Given the description of an element on the screen output the (x, y) to click on. 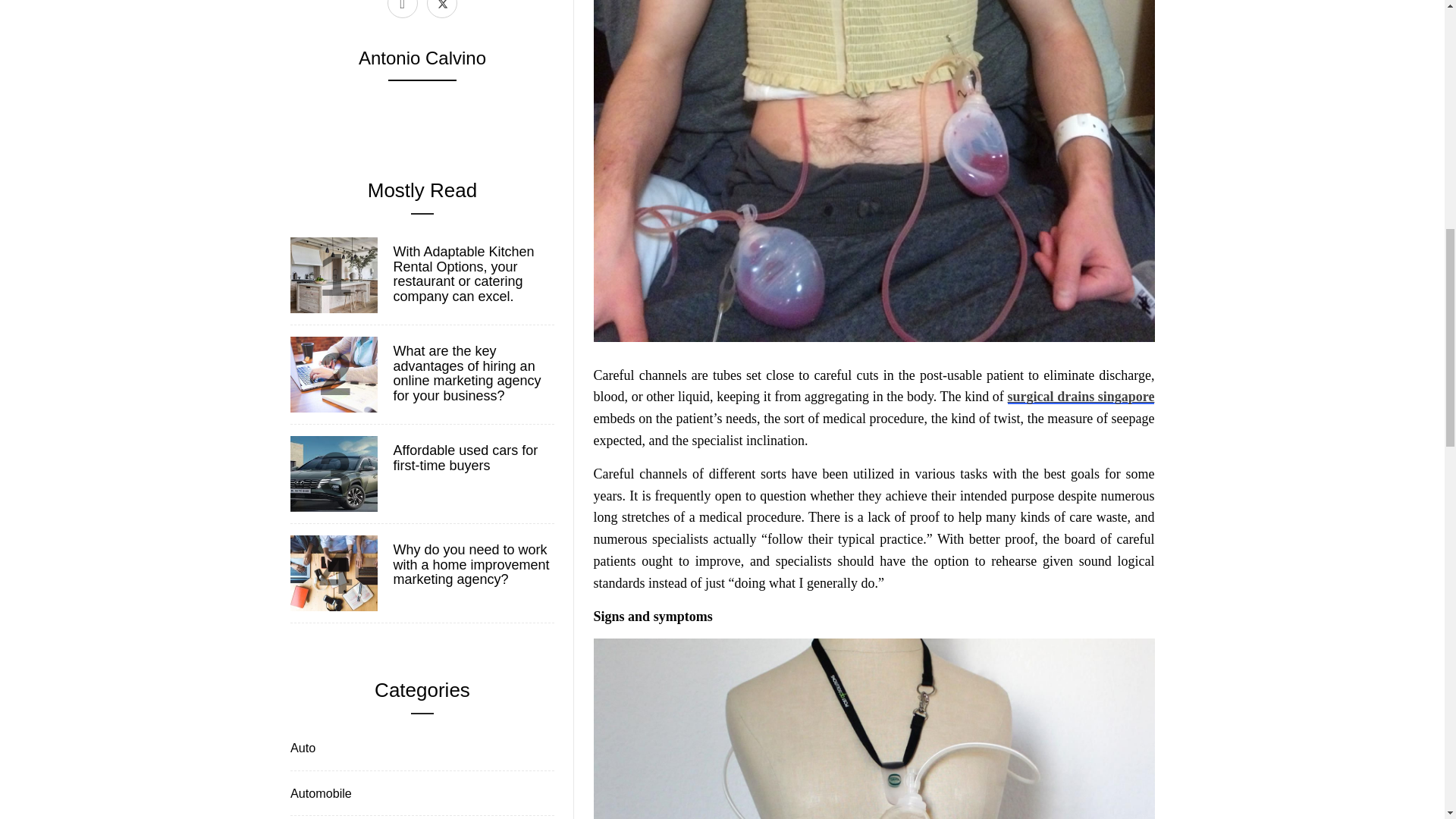
surgical drains singapore (1080, 396)
Auto (300, 748)
Affordable used cars for first-time buyers (471, 458)
Automobile (319, 793)
